Given the description of an element on the screen output the (x, y) to click on. 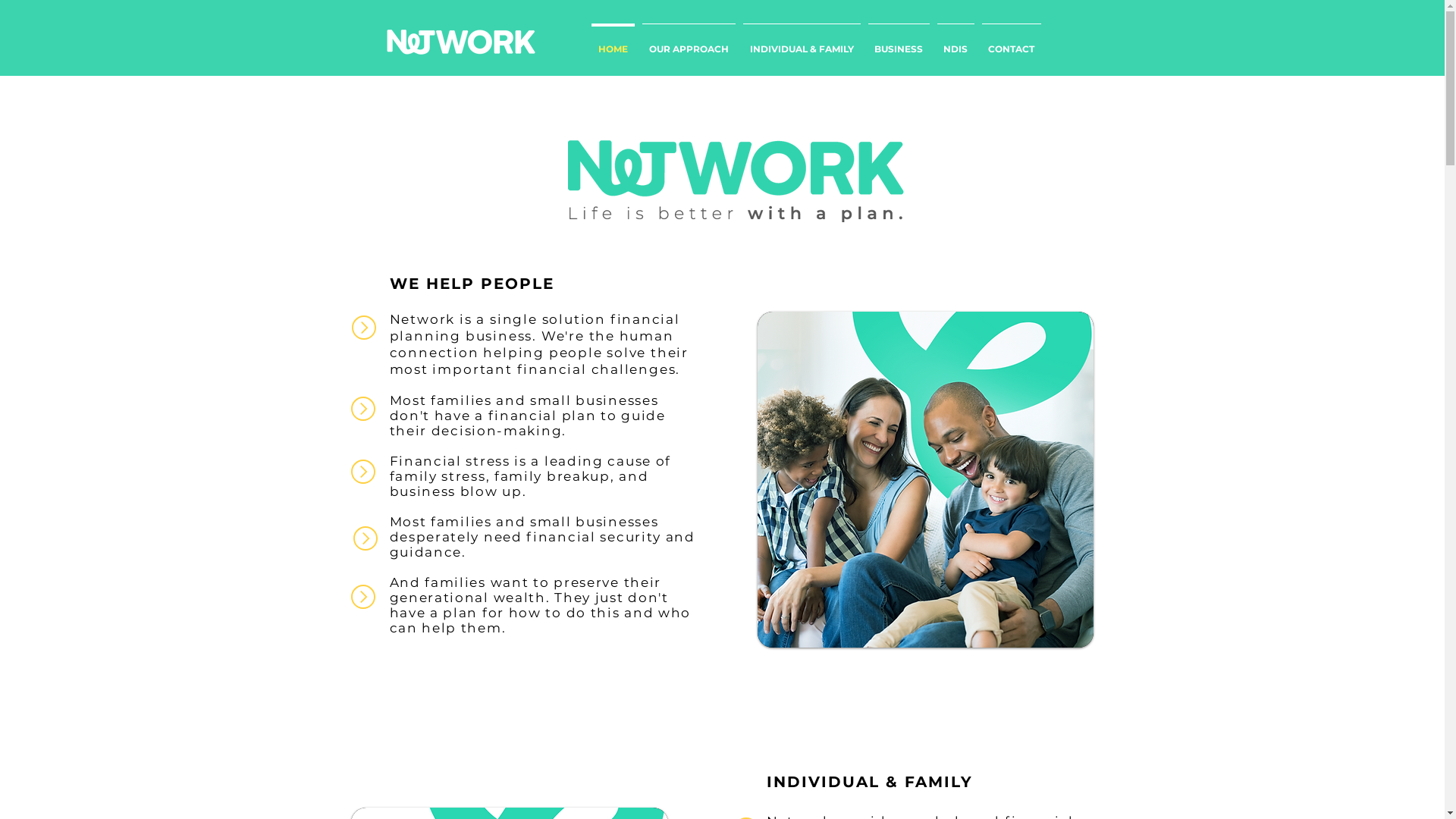
HOME Element type: text (611, 42)
CONTACT Element type: text (1011, 42)
OUR APPROACH Element type: text (688, 42)
001_Square SM.png Element type: hover (924, 479)
BUSINESS Element type: text (898, 42)
INDIVIDUAL & FAMILY Element type: text (800, 42)
NDIS Element type: text (954, 42)
